Given the description of an element on the screen output the (x, y) to click on. 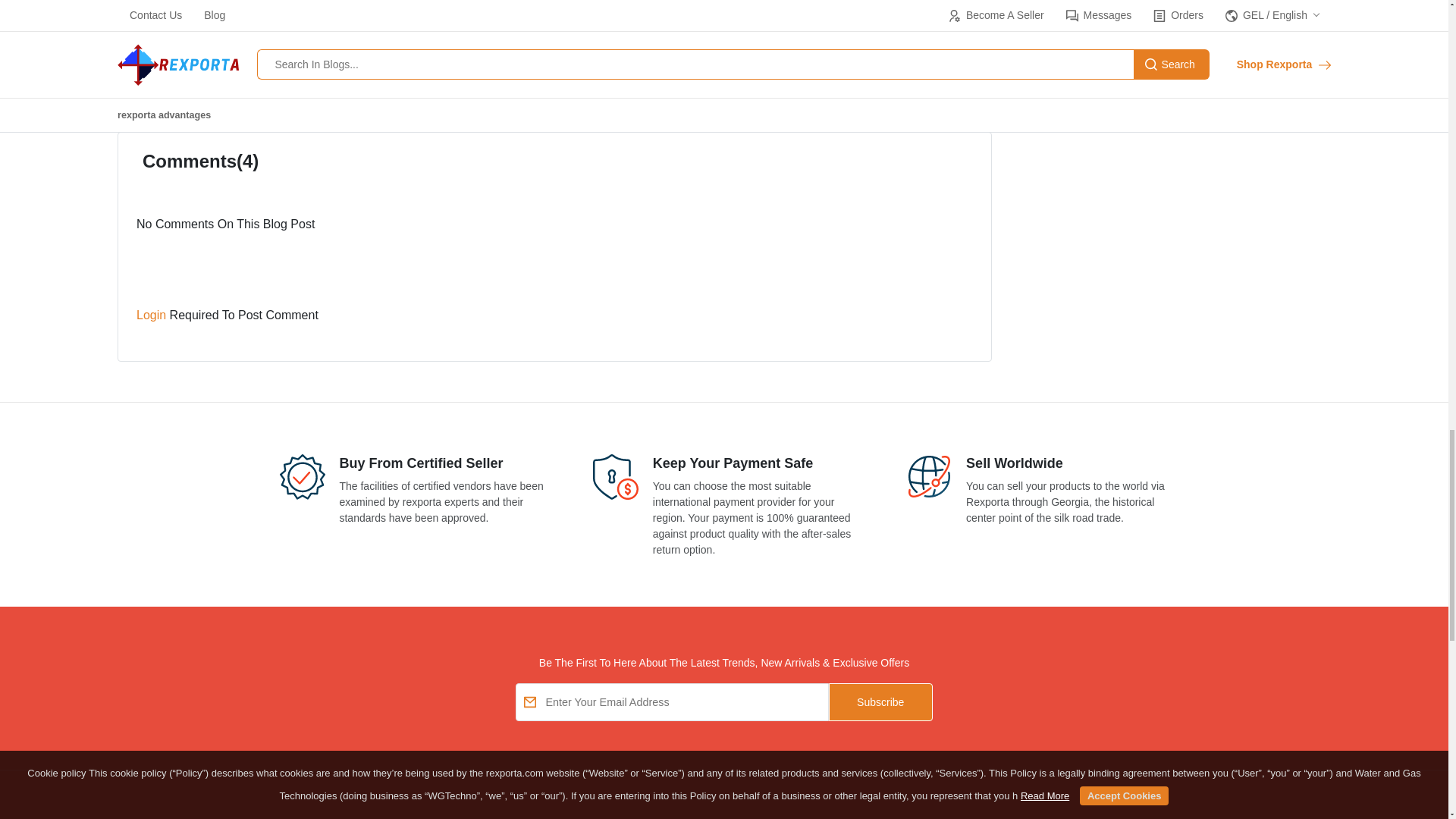
Login (153, 314)
Subscribe (880, 702)
